Given the description of an element on the screen output the (x, y) to click on. 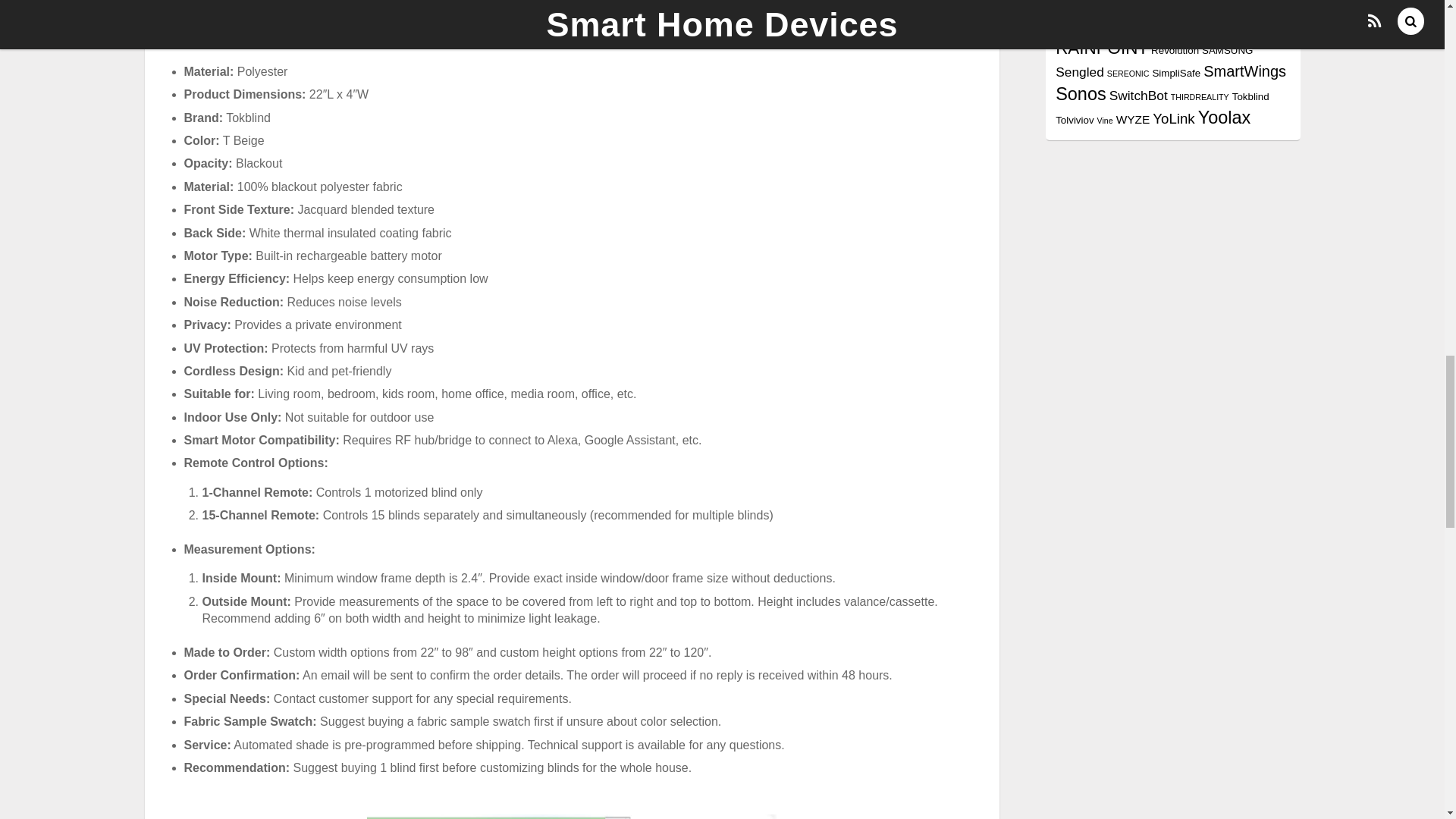
Kasa Smart (1157, 5)
